Given the description of an element on the screen output the (x, y) to click on. 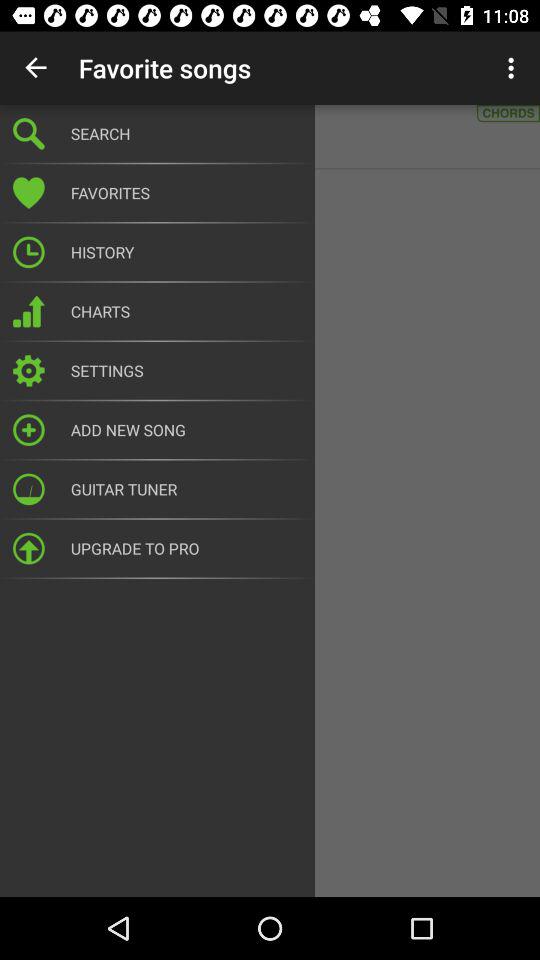
swipe until the search (185, 133)
